Given the description of an element on the screen output the (x, y) to click on. 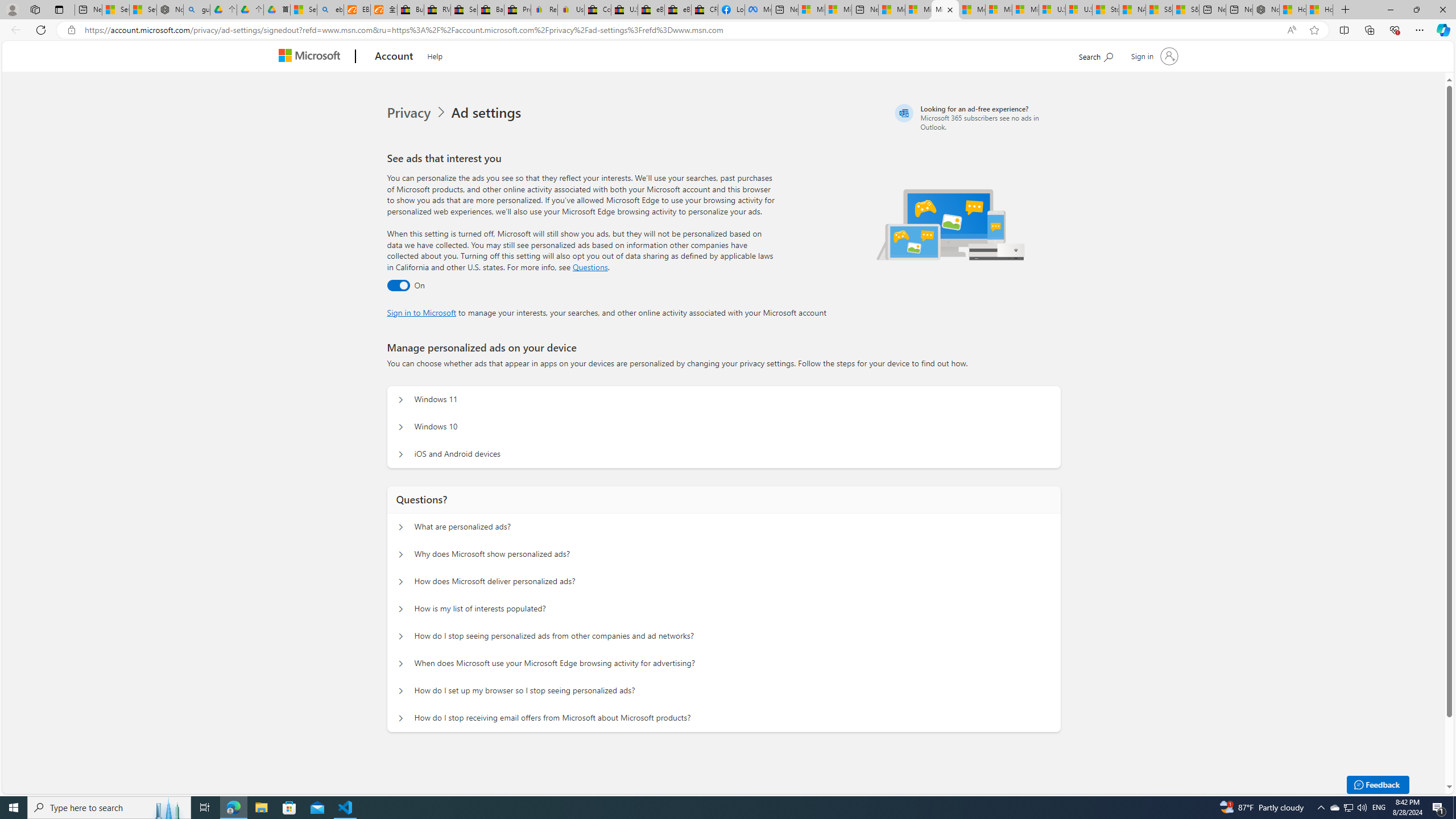
Sign in to Microsoft (422, 311)
Questions? What are personalized ads? (401, 526)
Microsoft (311, 56)
Go to Questions section (590, 266)
